Given the description of an element on the screen output the (x, y) to click on. 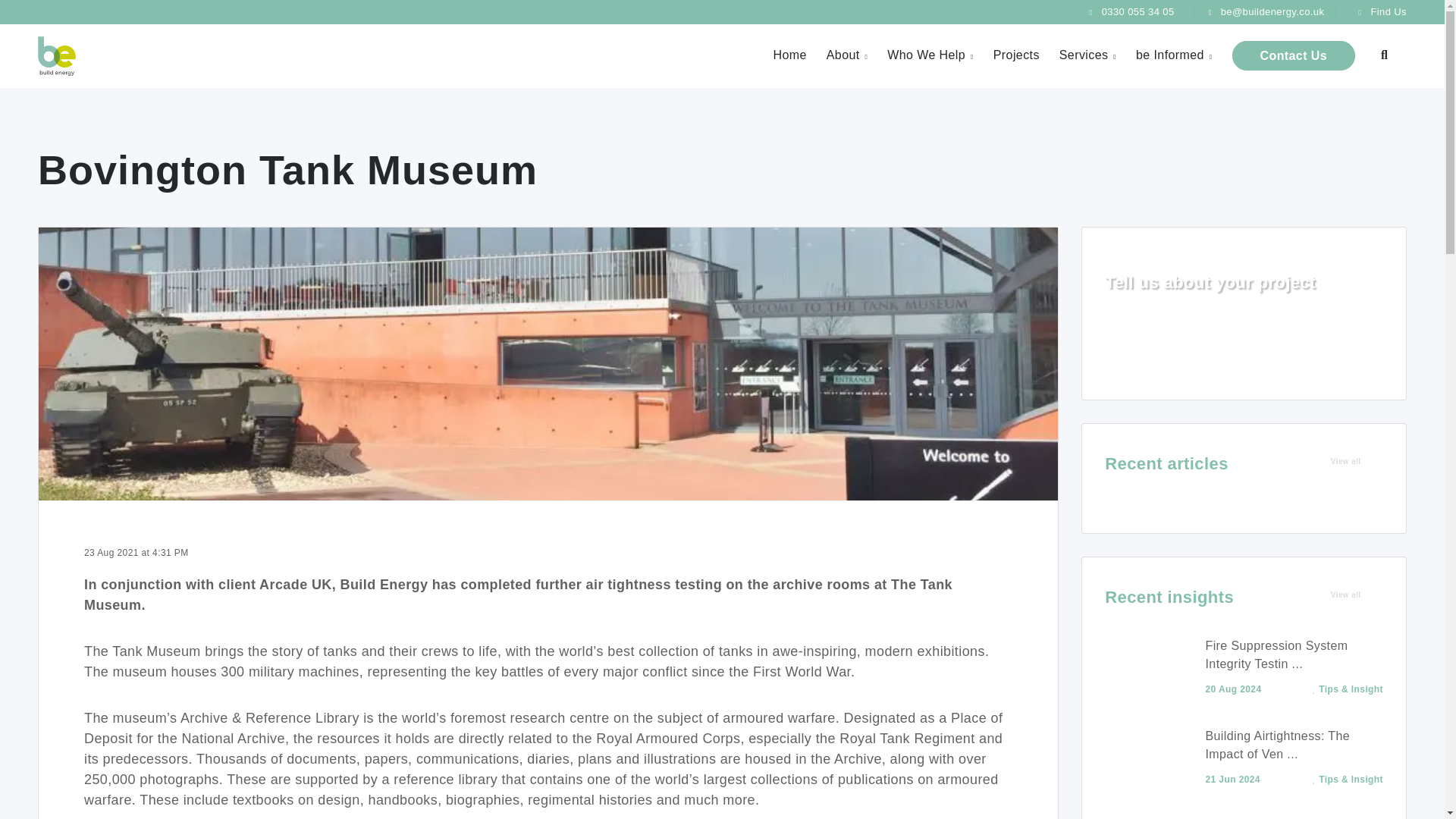
0330 055 34 05 (1131, 11)
Call Build Energy (1131, 11)
Email Build Energy (1266, 11)
Who We Help (930, 54)
Who We Help (930, 54)
Find Build Energy (1382, 11)
Find Us (1382, 11)
Services (1087, 54)
